Given the description of an element on the screen output the (x, y) to click on. 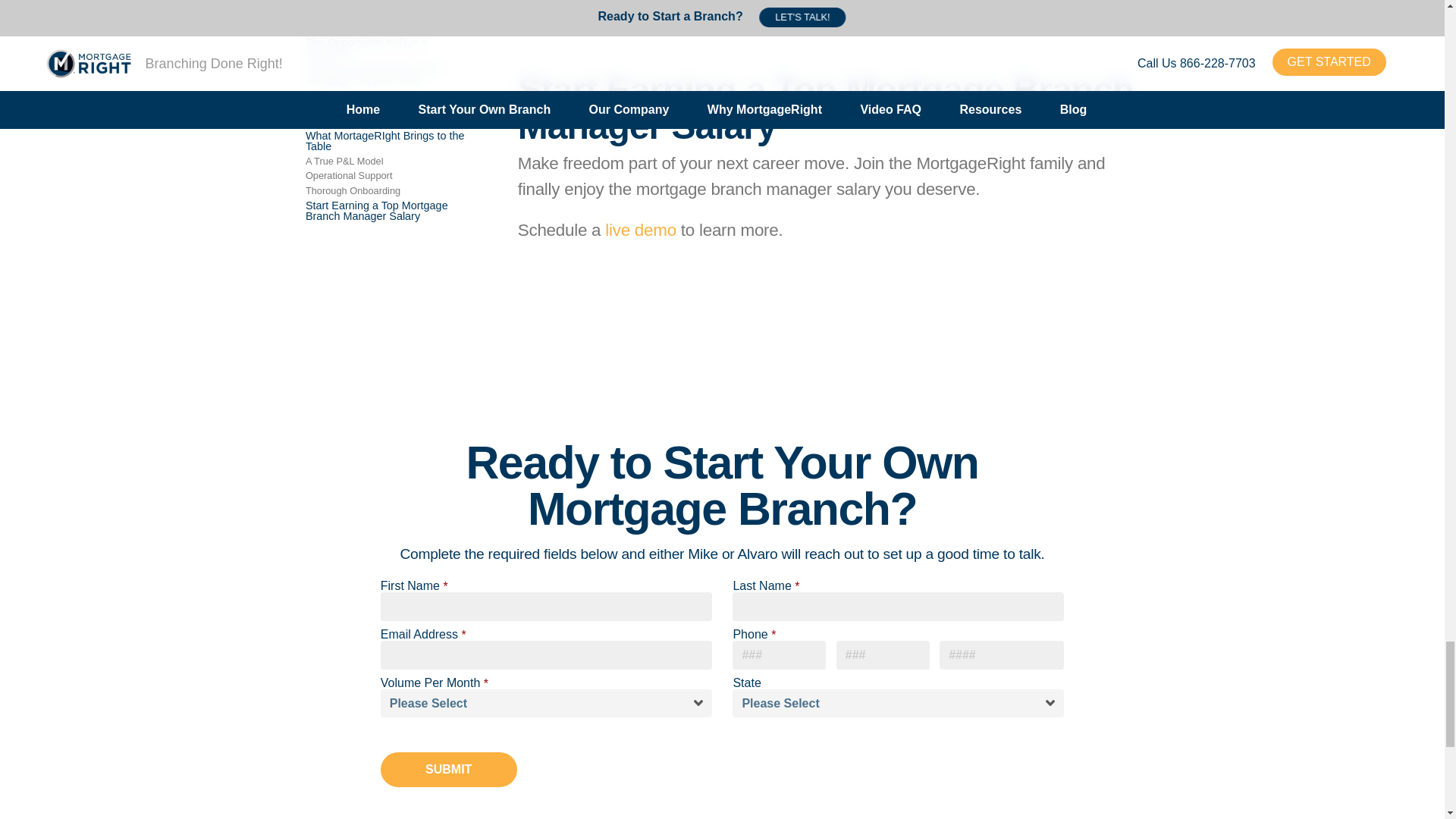
Submit (448, 769)
CALL NOW (705, 2)
Submit (448, 769)
live demo (641, 229)
BOOK YOUR LIVE DEMO (949, 2)
